Given the description of an element on the screen output the (x, y) to click on. 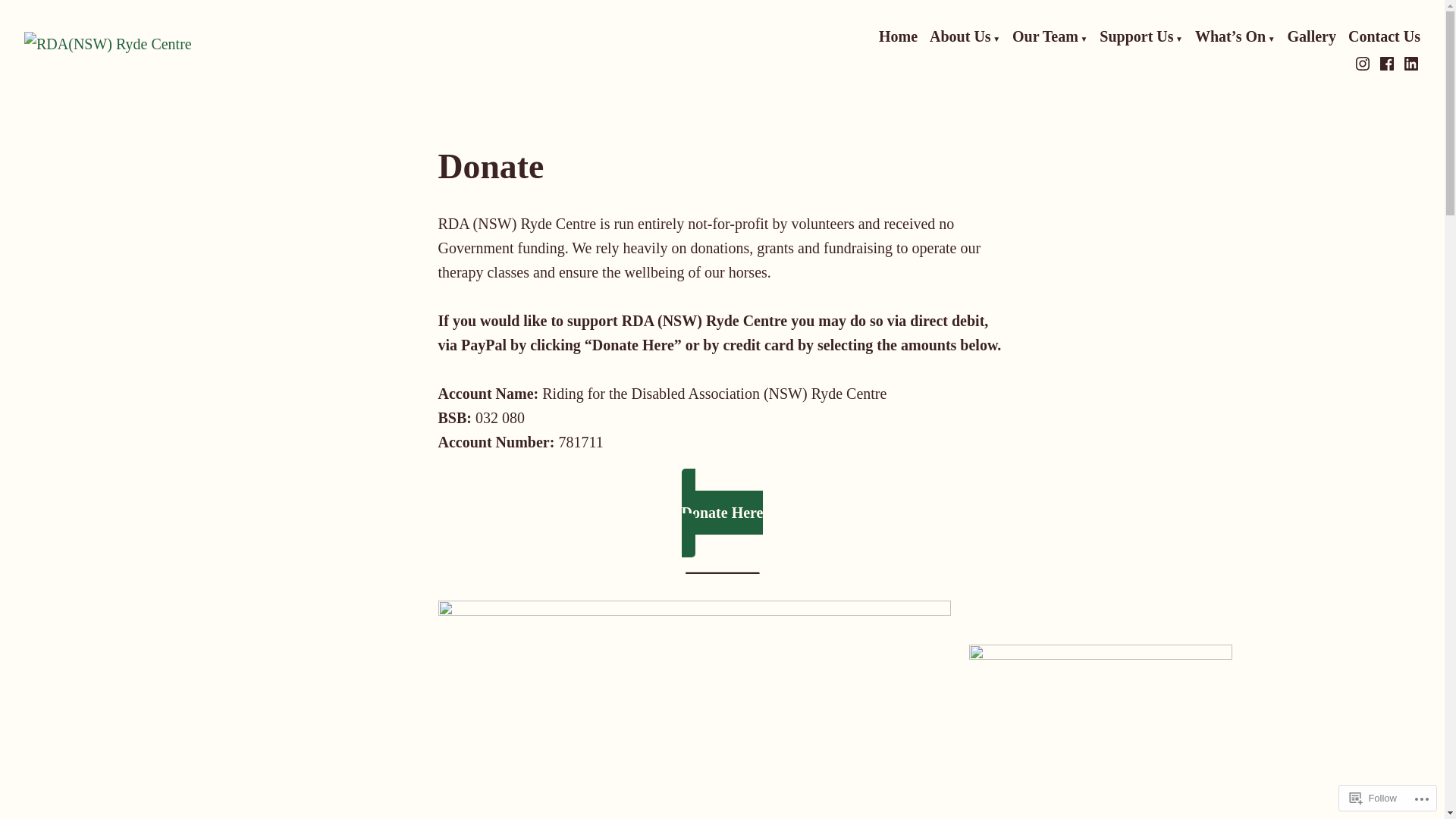
Our Team Element type: text (1049, 36)
Donate Here Element type: text (722, 512)
Gallery Element type: text (1311, 36)
Home Element type: text (897, 36)
Support Us Element type: text (1141, 36)
Follow Element type: text (1372, 797)
About Us Element type: text (964, 36)
RDA(NSW) Ryde Centre Element type: text (133, 85)
Contact Us Element type: text (1384, 36)
